Given the description of an element on the screen output the (x, y) to click on. 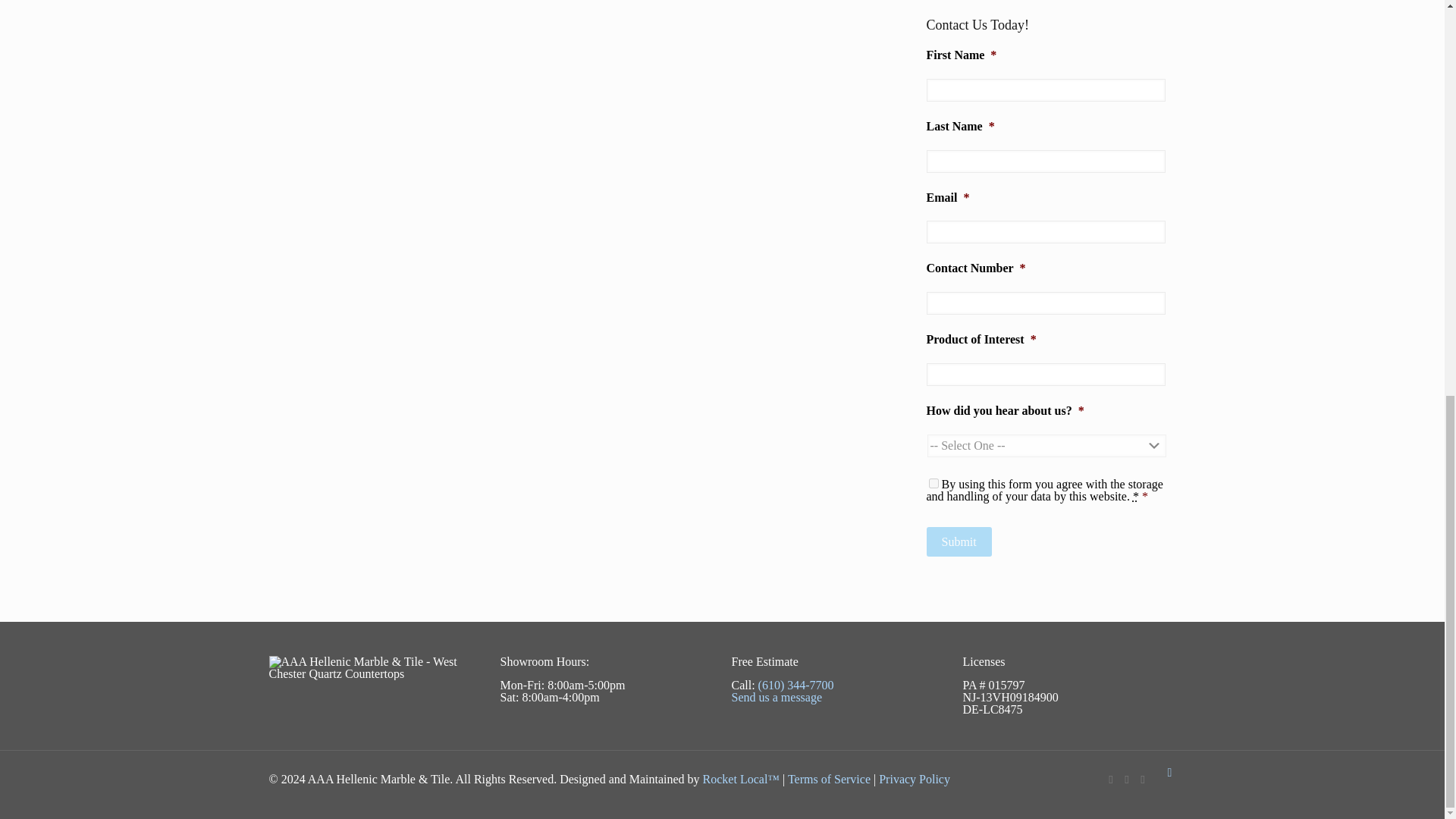
1 (932, 483)
Terms of Service (828, 779)
YouTube (1142, 779)
Send us a message (776, 697)
Submit (958, 541)
Facebook (1110, 779)
Submit (958, 541)
